Given the description of an element on the screen output the (x, y) to click on. 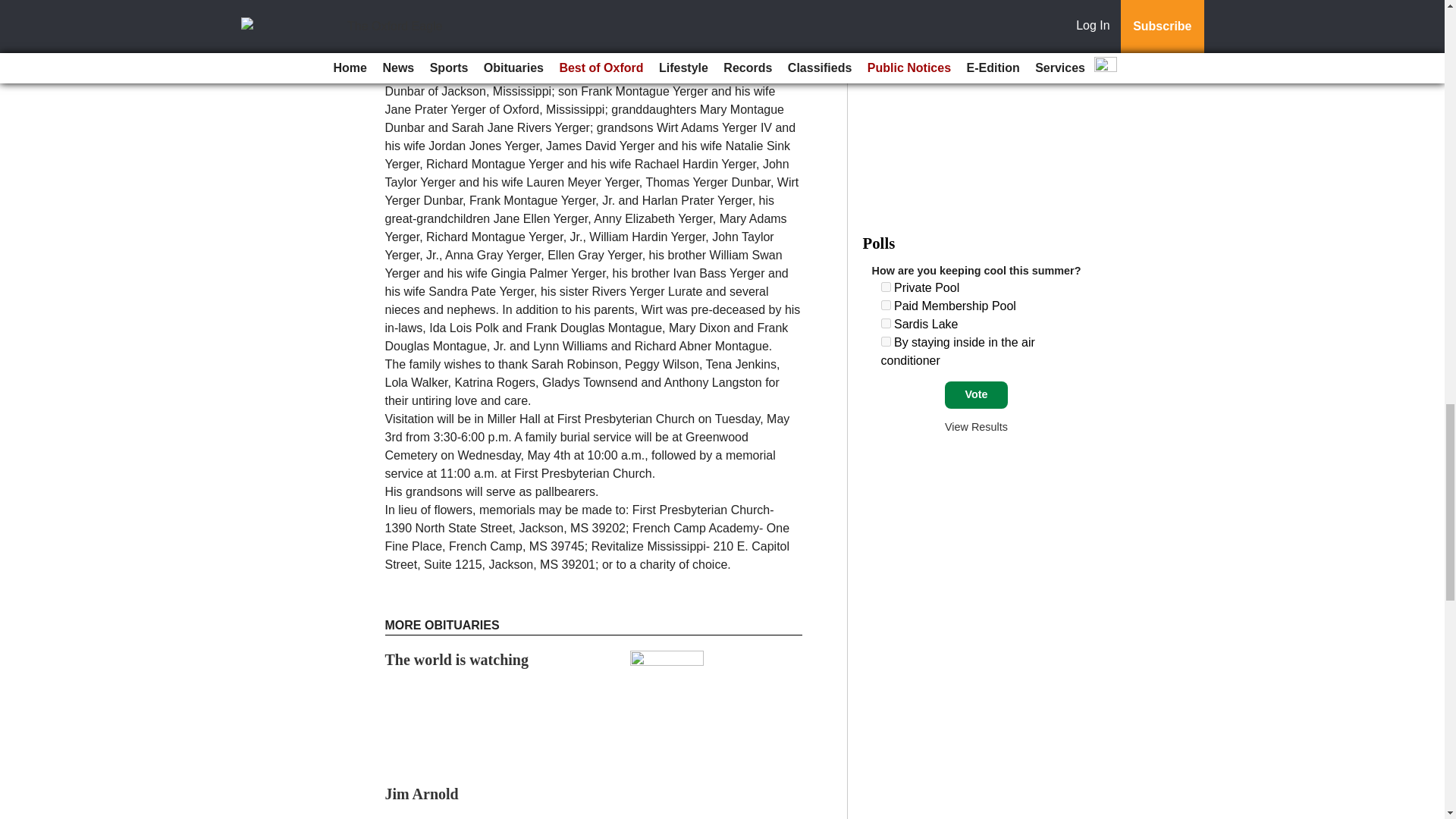
View Results Of This Poll (975, 426)
View Results (975, 426)
167 (885, 341)
Jim Arnold (421, 793)
Jim Arnold (421, 793)
The world is watching (456, 659)
166 (885, 323)
165 (885, 305)
The world is watching (456, 659)
   Vote    (975, 394)
